Given the description of an element on the screen output the (x, y) to click on. 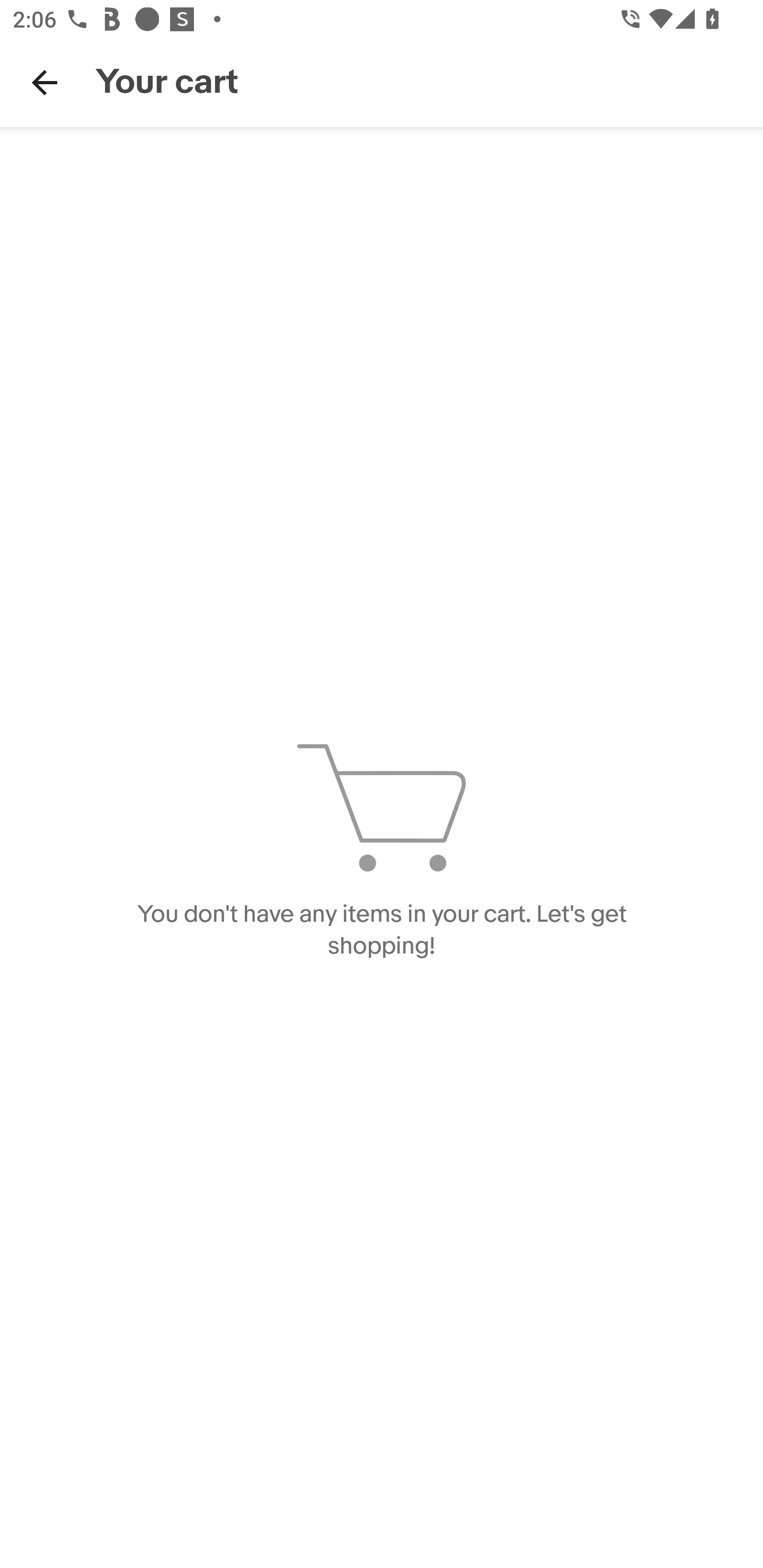
Navigate up (44, 82)
